Given the description of an element on the screen output the (x, y) to click on. 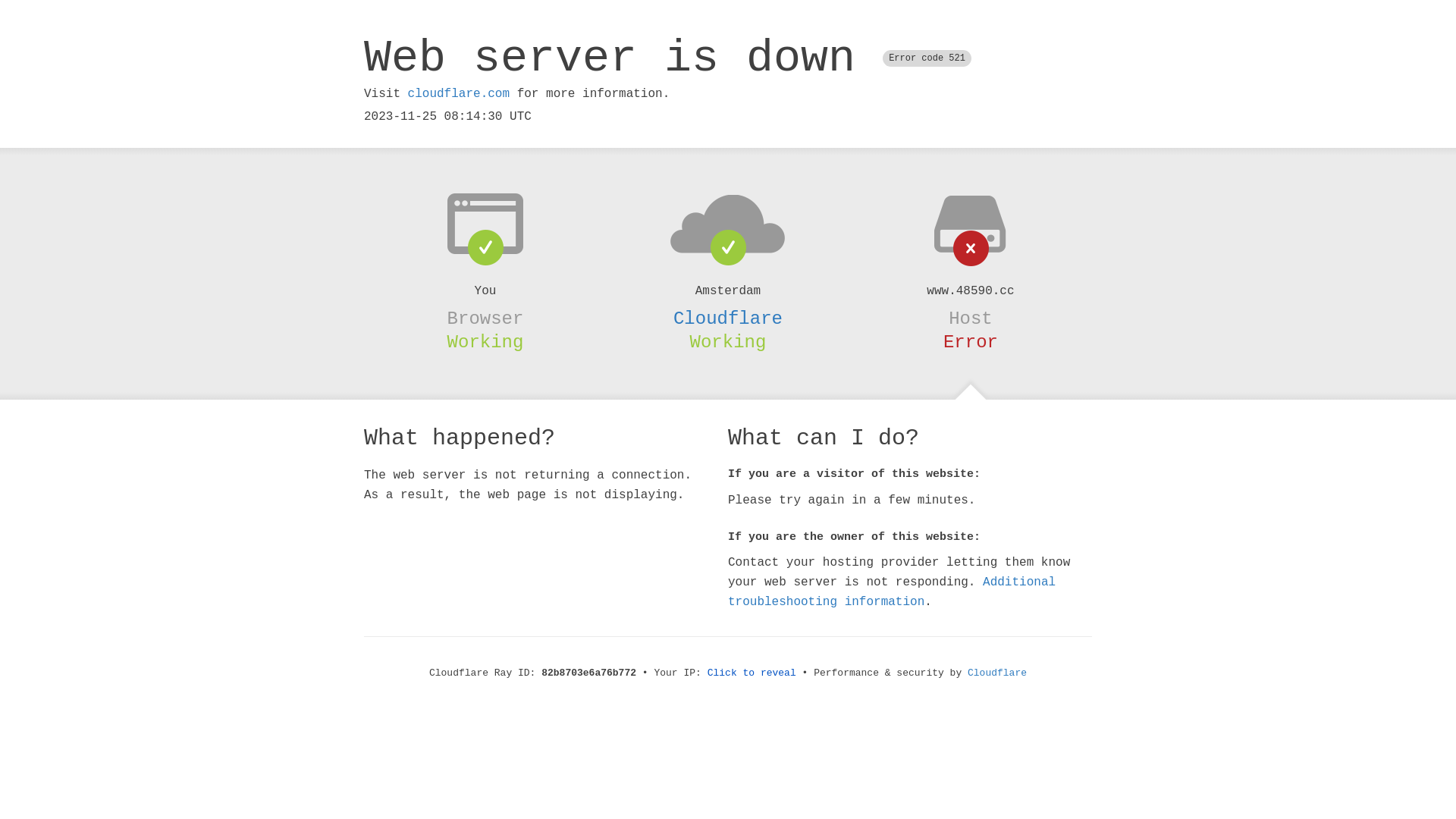
Click to reveal Element type: text (751, 672)
Additional troubleshooting information Element type: text (891, 591)
cloudflare.com Element type: text (458, 93)
Cloudflare Element type: text (996, 672)
Cloudflare Element type: text (727, 318)
